Given the description of an element on the screen output the (x, y) to click on. 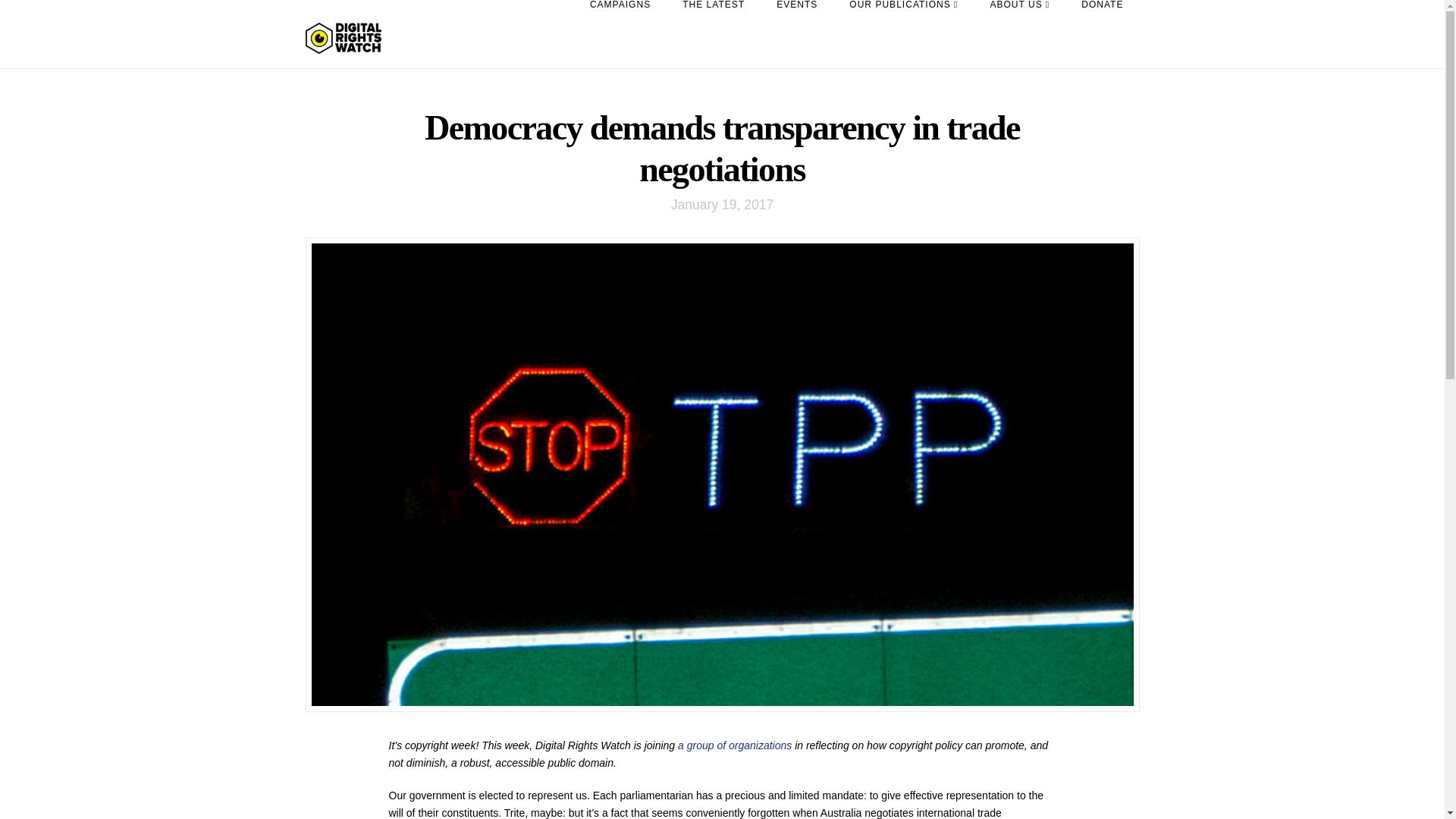
CAMPAIGNS (619, 33)
THE LATEST (713, 33)
EVENTS (796, 33)
ABOUT US (1019, 33)
a group of organizations (735, 745)
OUR PUBLICATIONS (903, 33)
DONATE (1101, 33)
